Given the description of an element on the screen output the (x, y) to click on. 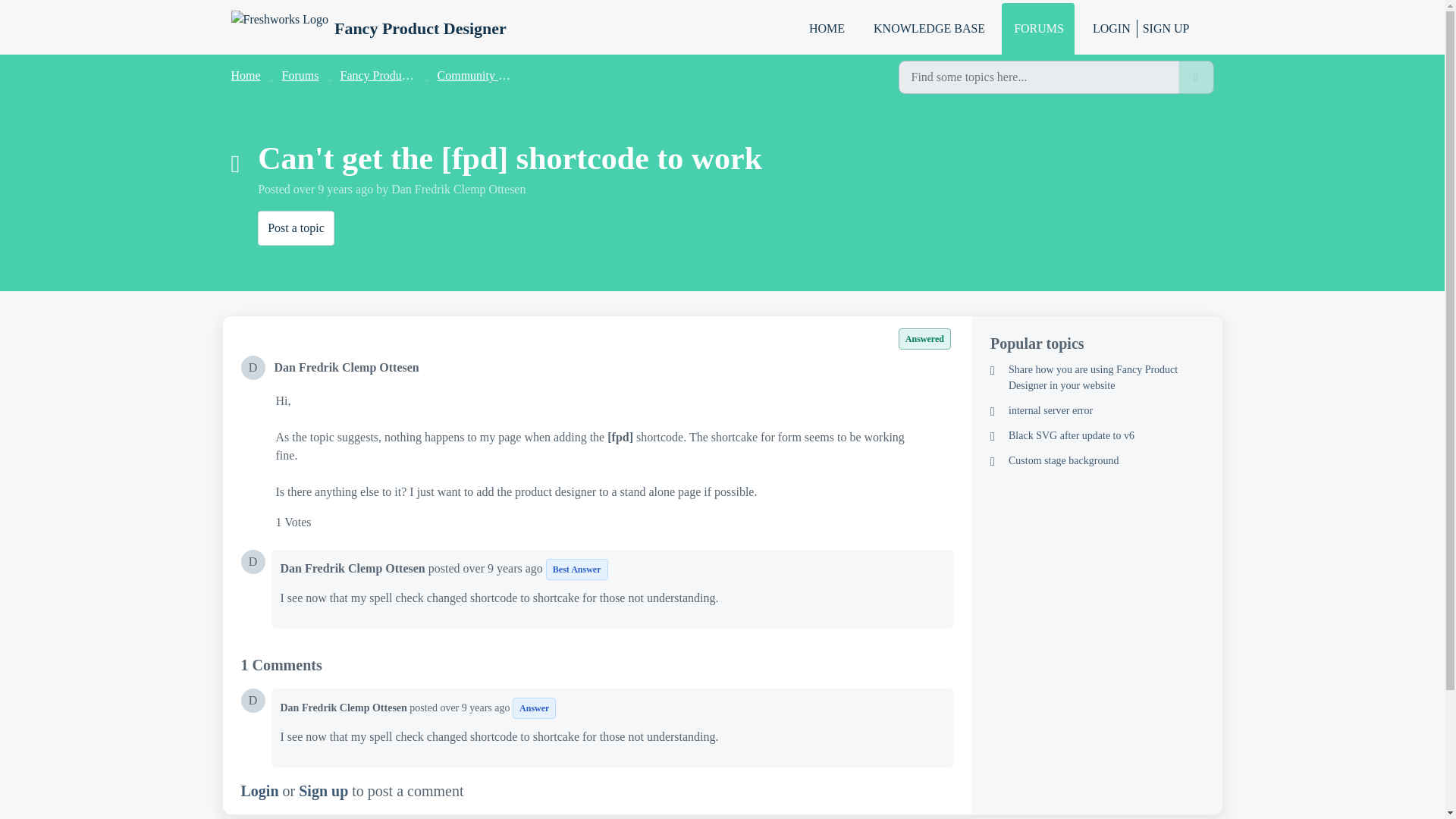
Login (260, 790)
internal server error (1097, 410)
11 May, 2015 (504, 567)
Fancy Product Designer (367, 28)
Black SVG after update to v6 (1097, 435)
Post a topic (295, 227)
Sign up (322, 790)
Home (245, 74)
KNOWLEDGE BASE (928, 28)
10 May, 2015 (334, 188)
